Given the description of an element on the screen output the (x, y) to click on. 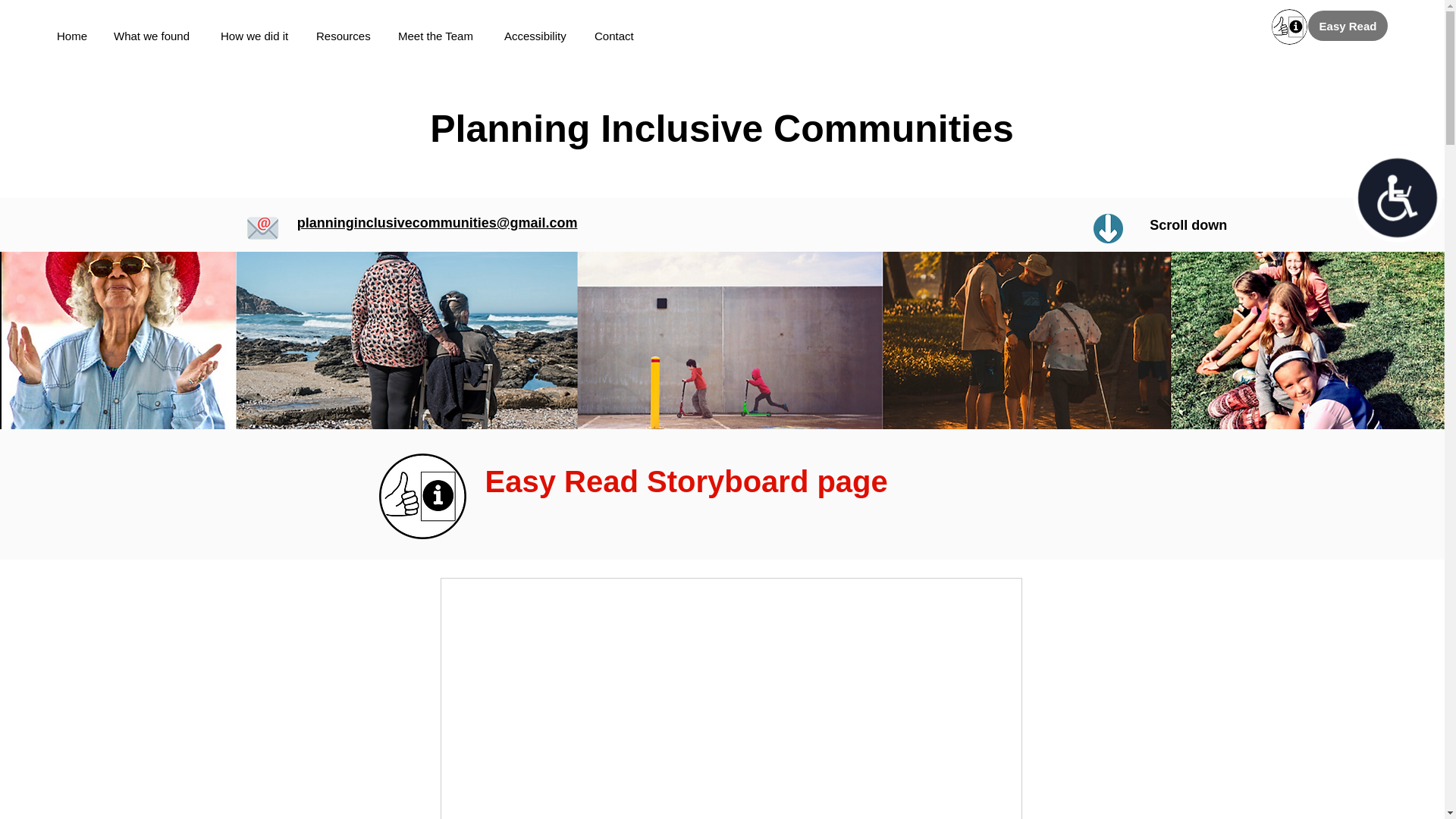
Planning Inclusive Communities (721, 128)
Home (77, 36)
Meet the Team (443, 36)
Contact (620, 36)
Easy Read (1347, 25)
Accessibility (541, 36)
Accessibility (1386, 187)
